Given the description of an element on the screen output the (x, y) to click on. 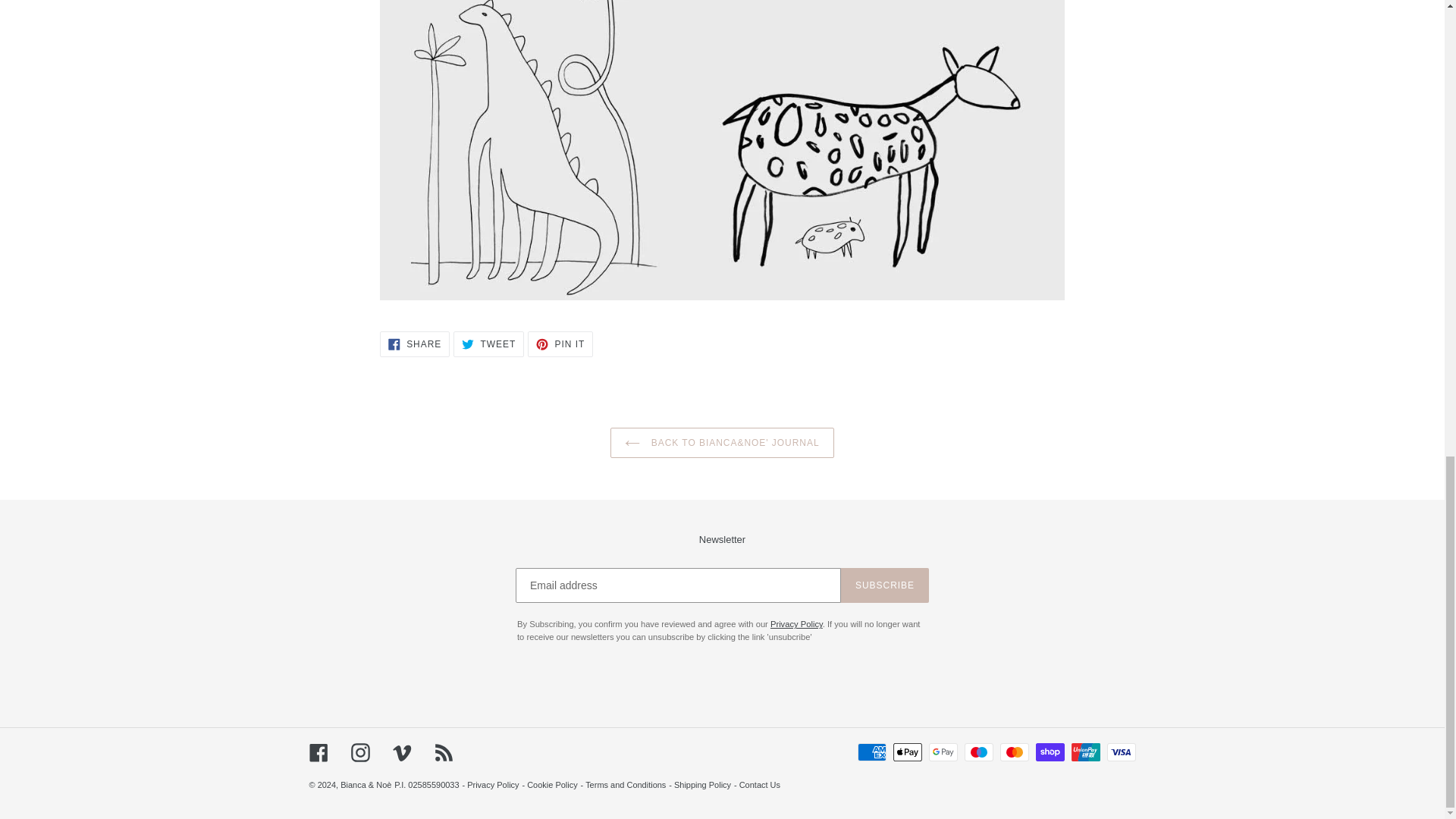
Facebook (318, 752)
Shipping Policy (702, 784)
Instagram (359, 752)
Vimeo (402, 752)
RSS (442, 752)
Contact Us (414, 344)
Privacy Policy (759, 784)
SUBSCRIBE (488, 344)
Terms and Conditions (492, 784)
Cookie Policy (884, 585)
Privacy Policy (559, 344)
